Given the description of an element on the screen output the (x, y) to click on. 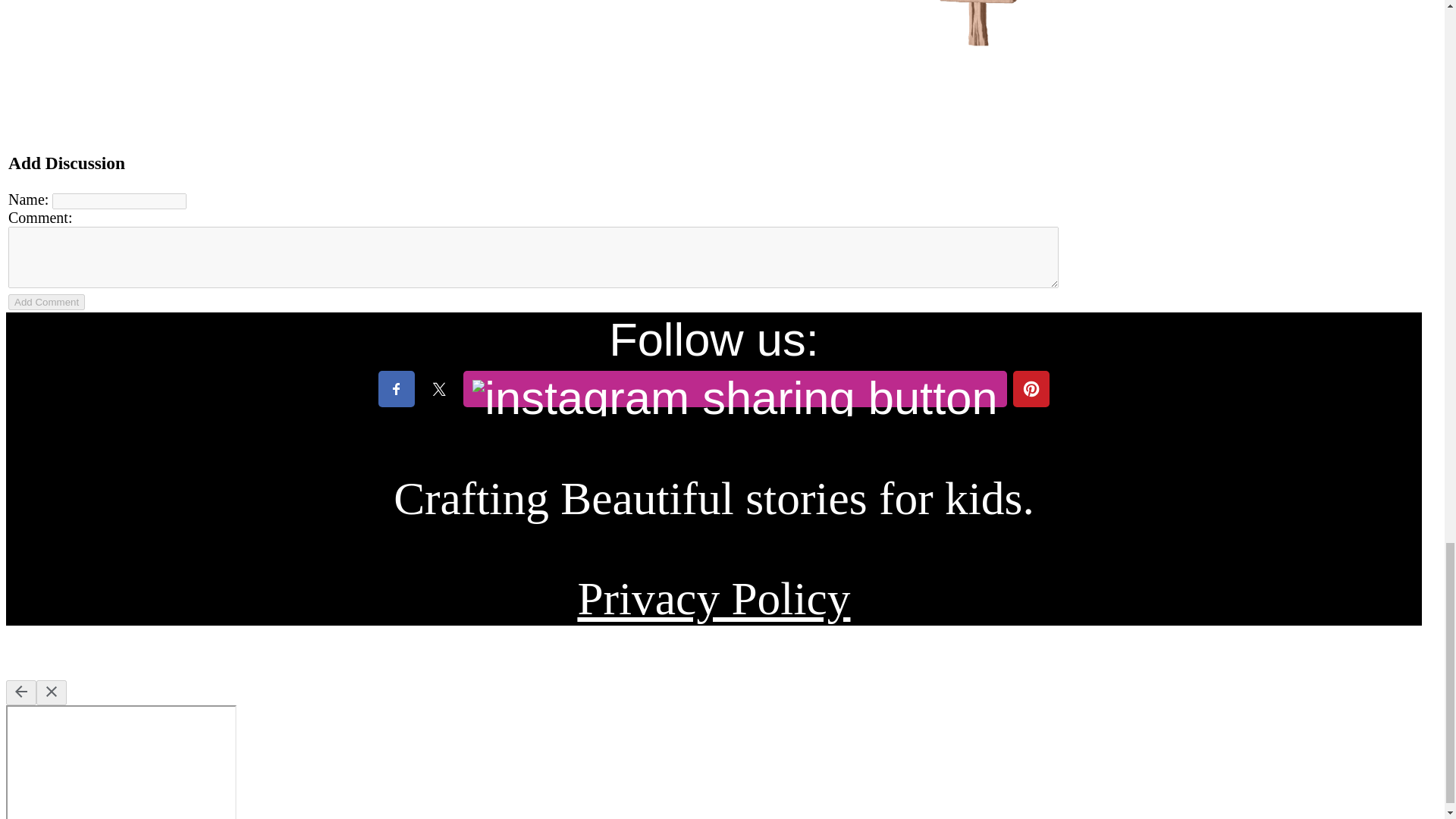
Add Comment (46, 302)
Privacy Policy (713, 598)
